Given the description of an element on the screen output the (x, y) to click on. 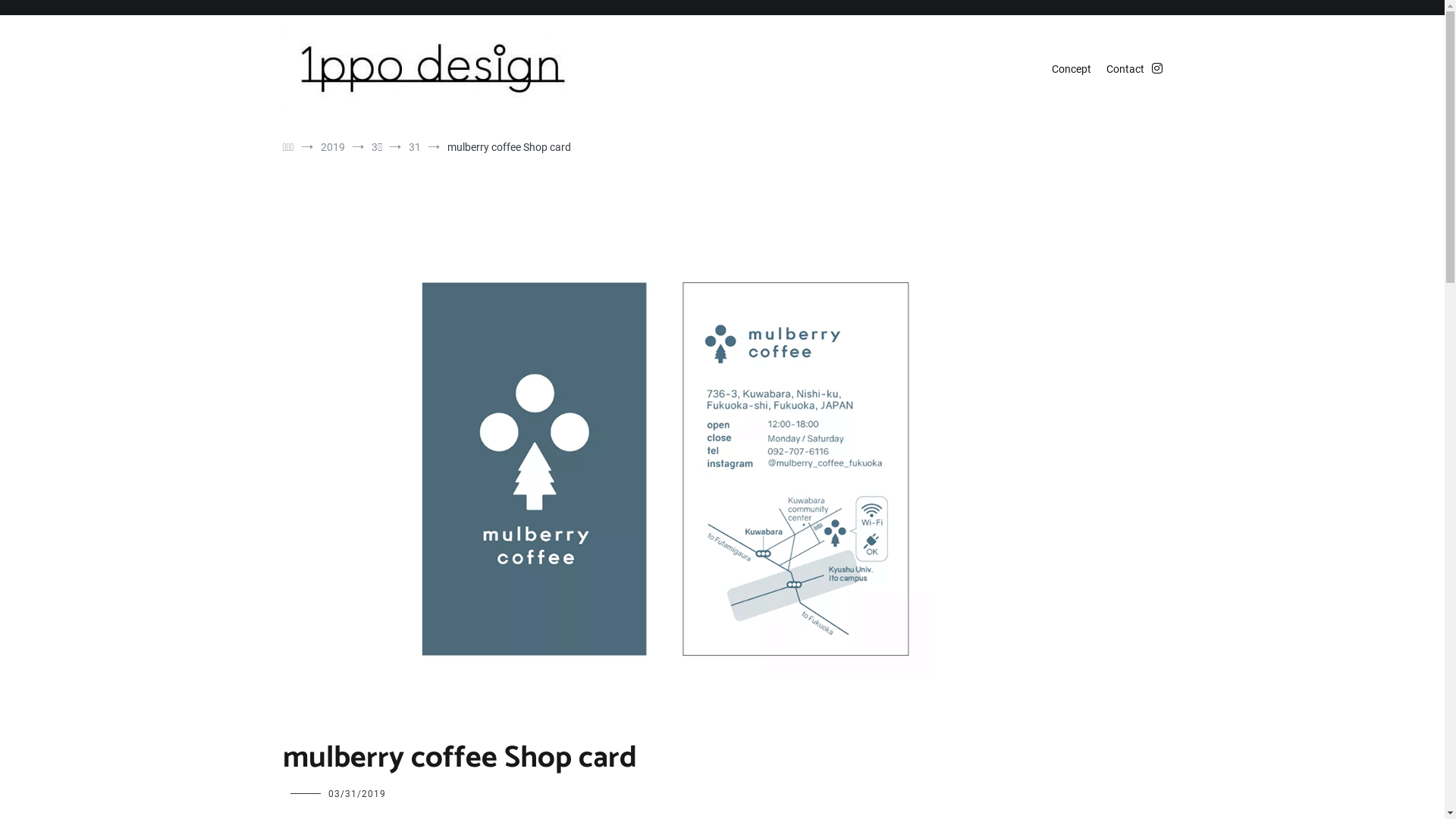
03/31/2019 Element type: text (356, 793)
2019 Element type: text (332, 147)
Concept Element type: text (1070, 69)
31 Element type: text (414, 147)
Contact Element type: text (1124, 69)
1ppodesign Element type: text (321, 122)
